Given the description of an element on the screen output the (x, y) to click on. 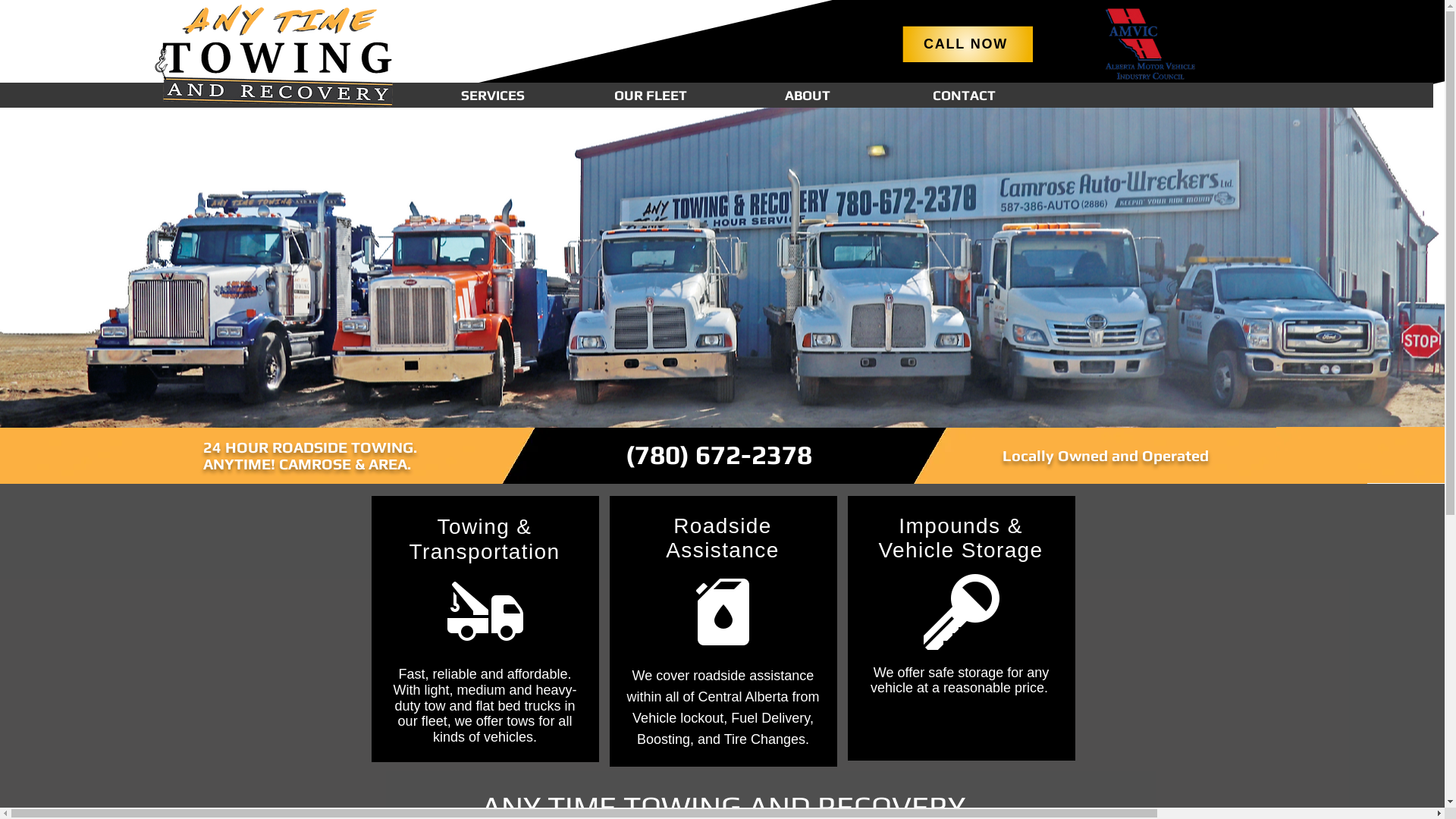
OUR FLEET Element type: text (649, 94)
SERVICES Element type: text (492, 94)
CALL NOW Element type: text (966, 43)
CONTACT Element type: text (963, 94)
(780) 672-2378 Element type: text (717, 454)
